Given the description of an element on the screen output the (x, y) to click on. 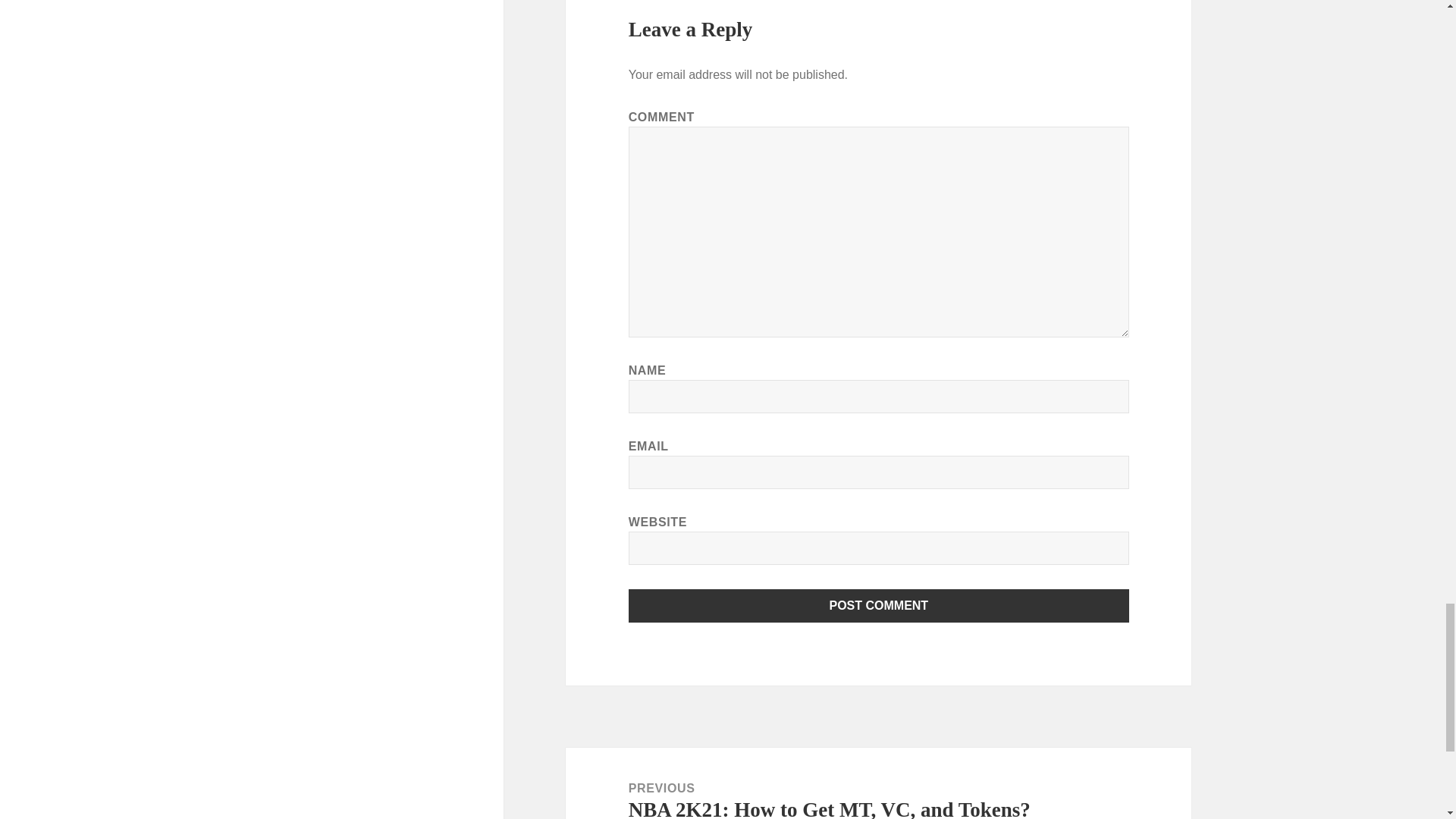
Post Comment (878, 605)
